Given the description of an element on the screen output the (x, y) to click on. 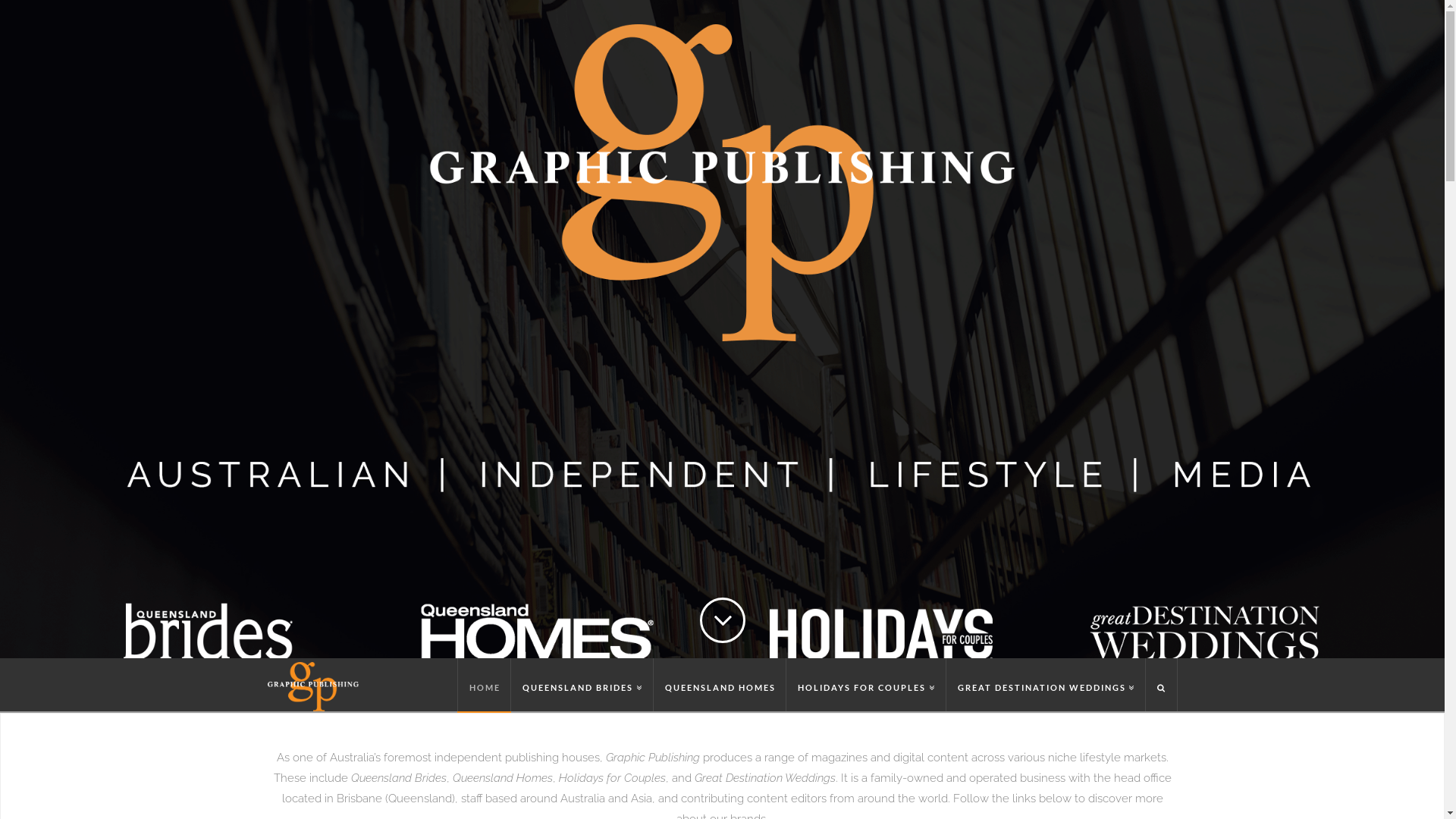
QUEENSLAND BRIDES Element type: text (582, 684)
GREAT DESTINATION WEDDINGS Element type: text (1046, 684)
QUEENSLAND HOMES Element type: text (719, 684)
HOME Element type: text (484, 684)
Lifestyle Media Publisher -  Since 1984 Element type: hover (311, 686)
HOLIDAYS FOR COUPLES Element type: text (866, 684)
